Given the description of an element on the screen output the (x, y) to click on. 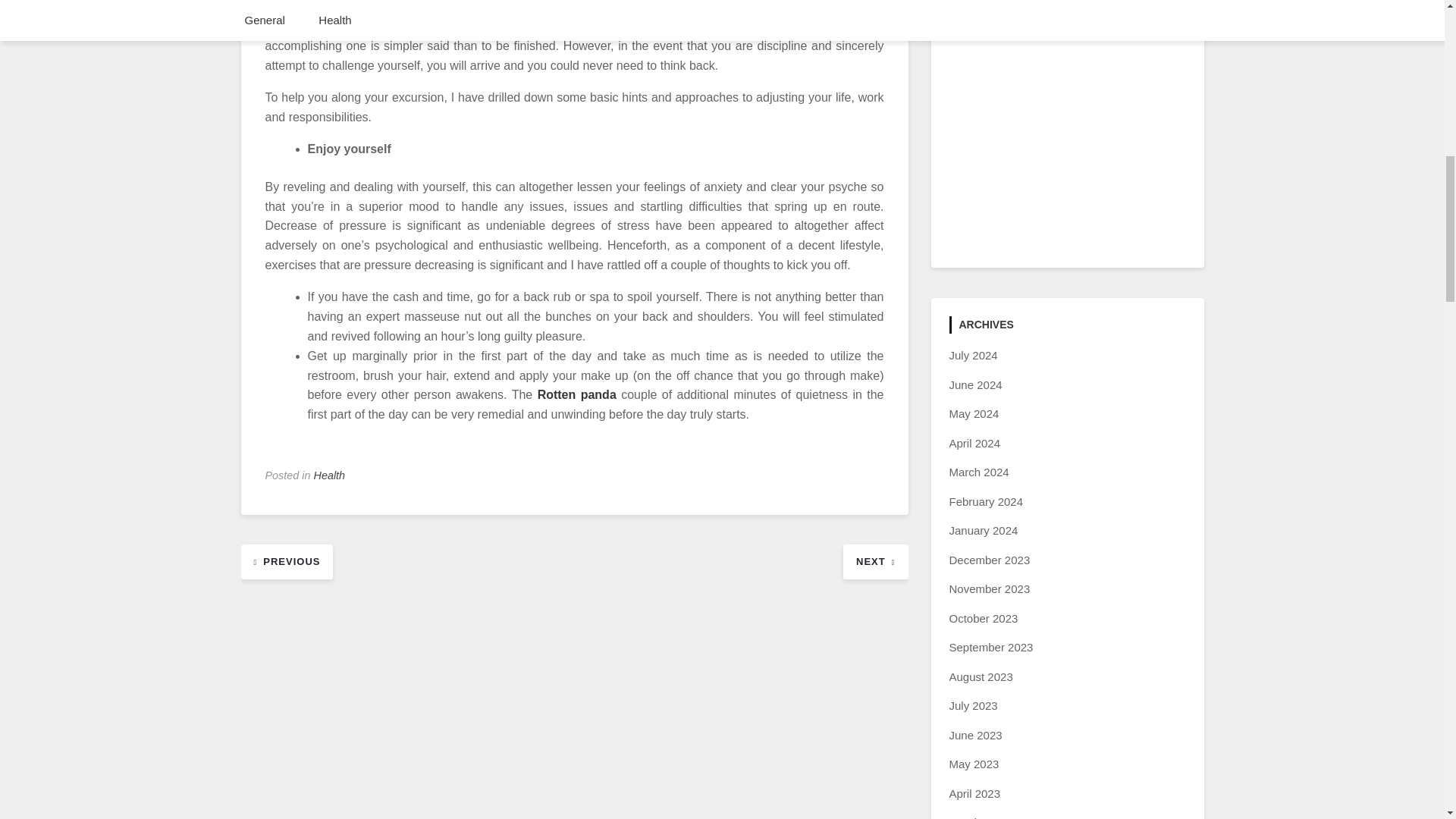
March 2023 (979, 817)
March 2024 (979, 472)
June 2024 (976, 384)
May 2024 (973, 413)
April 2023 (975, 793)
December 2023 (989, 559)
August 2023 (981, 676)
NEXT (875, 560)
July 2023 (973, 705)
PREVIOUS (287, 560)
January 2024 (983, 530)
April 2024 (975, 442)
November 2023 (989, 588)
Rotten panda (576, 394)
October 2023 (983, 617)
